Given the description of an element on the screen output the (x, y) to click on. 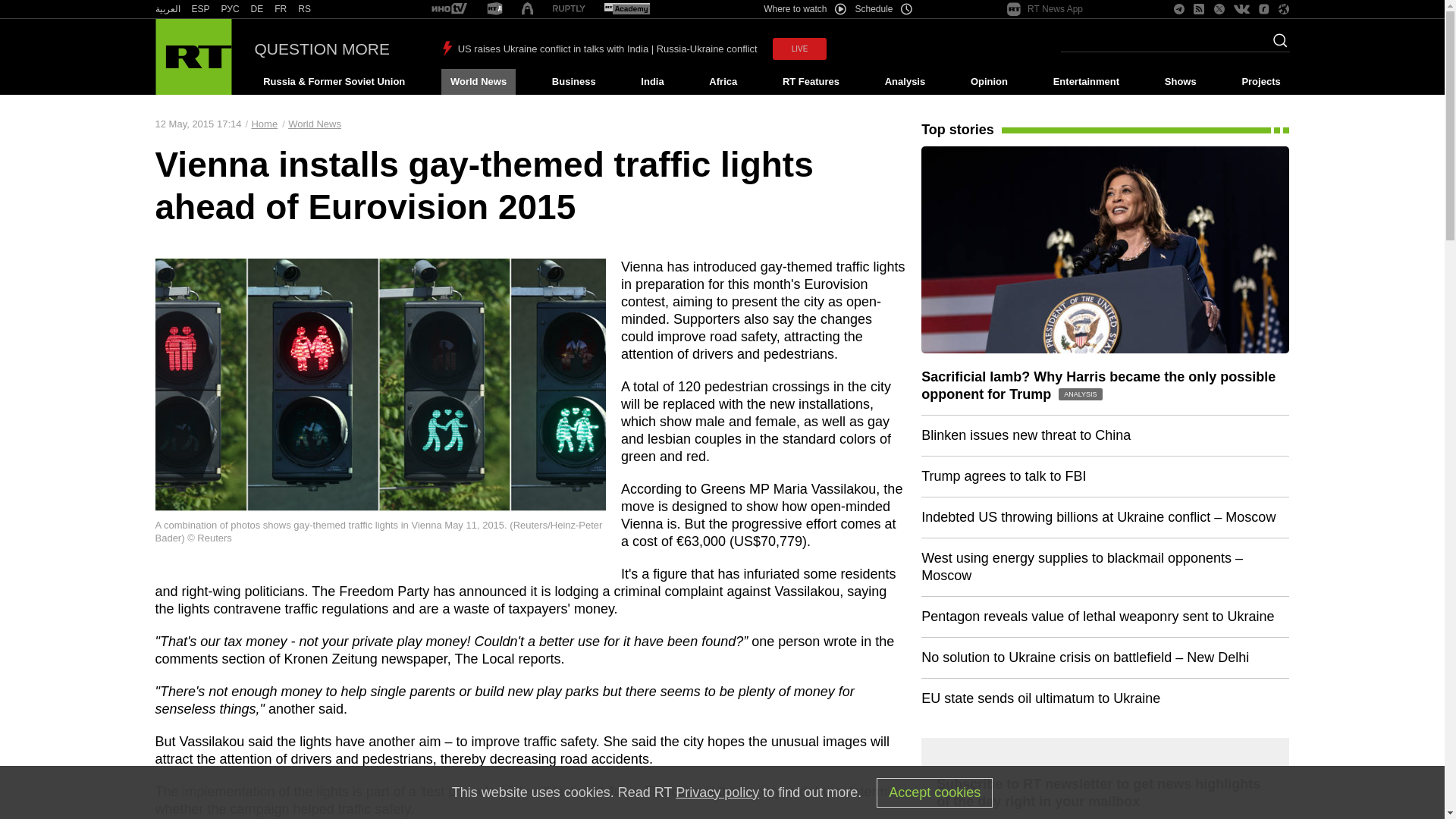
Africa (722, 81)
LIVE (800, 48)
QUESTION MORE (322, 48)
India (651, 81)
RT  (494, 9)
RT  (166, 9)
Opinion (988, 81)
RT  (280, 9)
Where to watch (803, 9)
RS (304, 9)
Search (1276, 44)
RT  (569, 8)
Schedule (884, 9)
ESP (199, 9)
Analysis (905, 81)
